Given the description of an element on the screen output the (x, y) to click on. 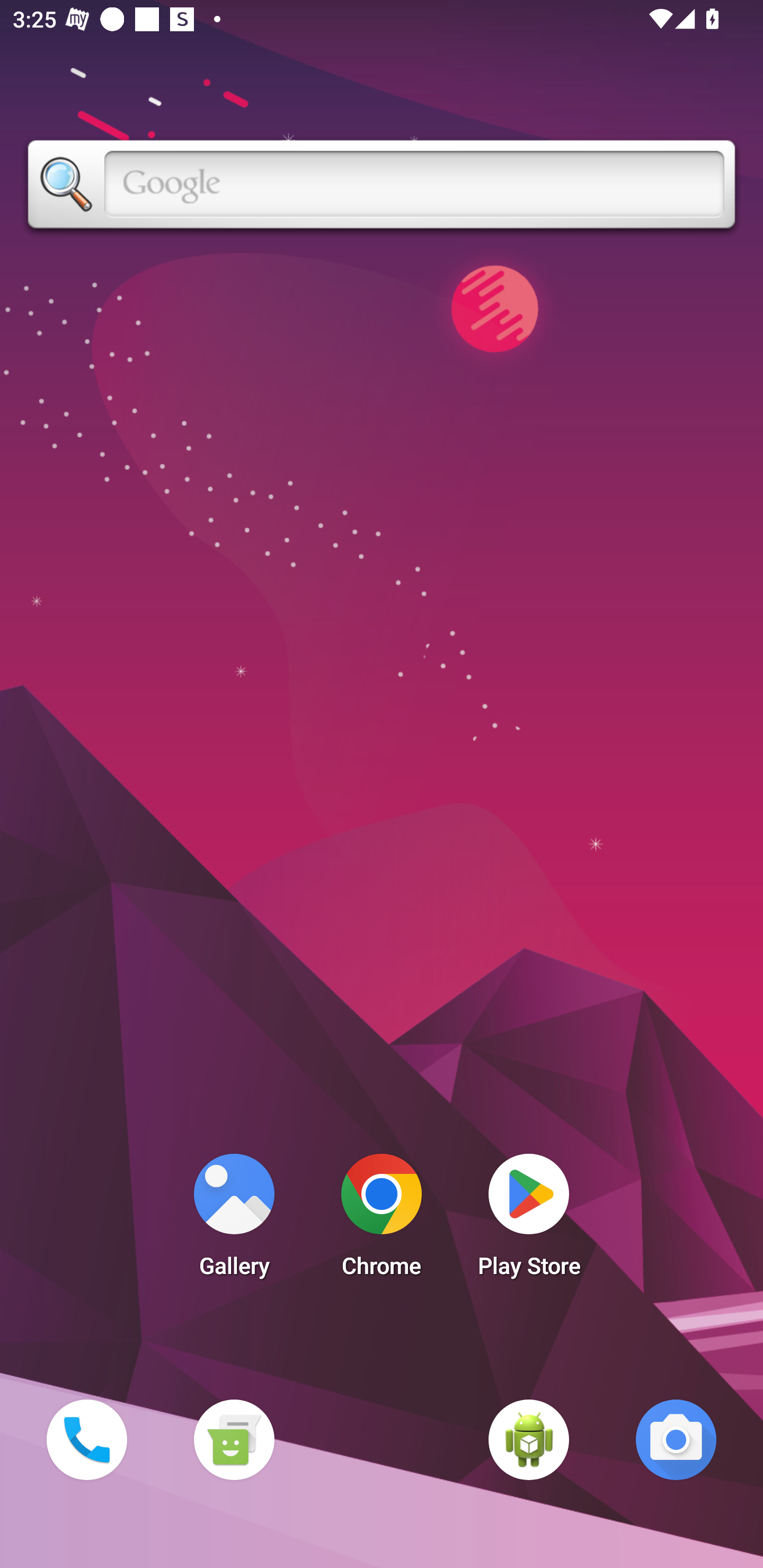
Gallery (233, 1220)
Chrome (381, 1220)
Play Store (528, 1220)
Phone (86, 1439)
Messaging (233, 1439)
WebView Browser Tester (528, 1439)
Camera (676, 1439)
